Given the description of an element on the screen output the (x, y) to click on. 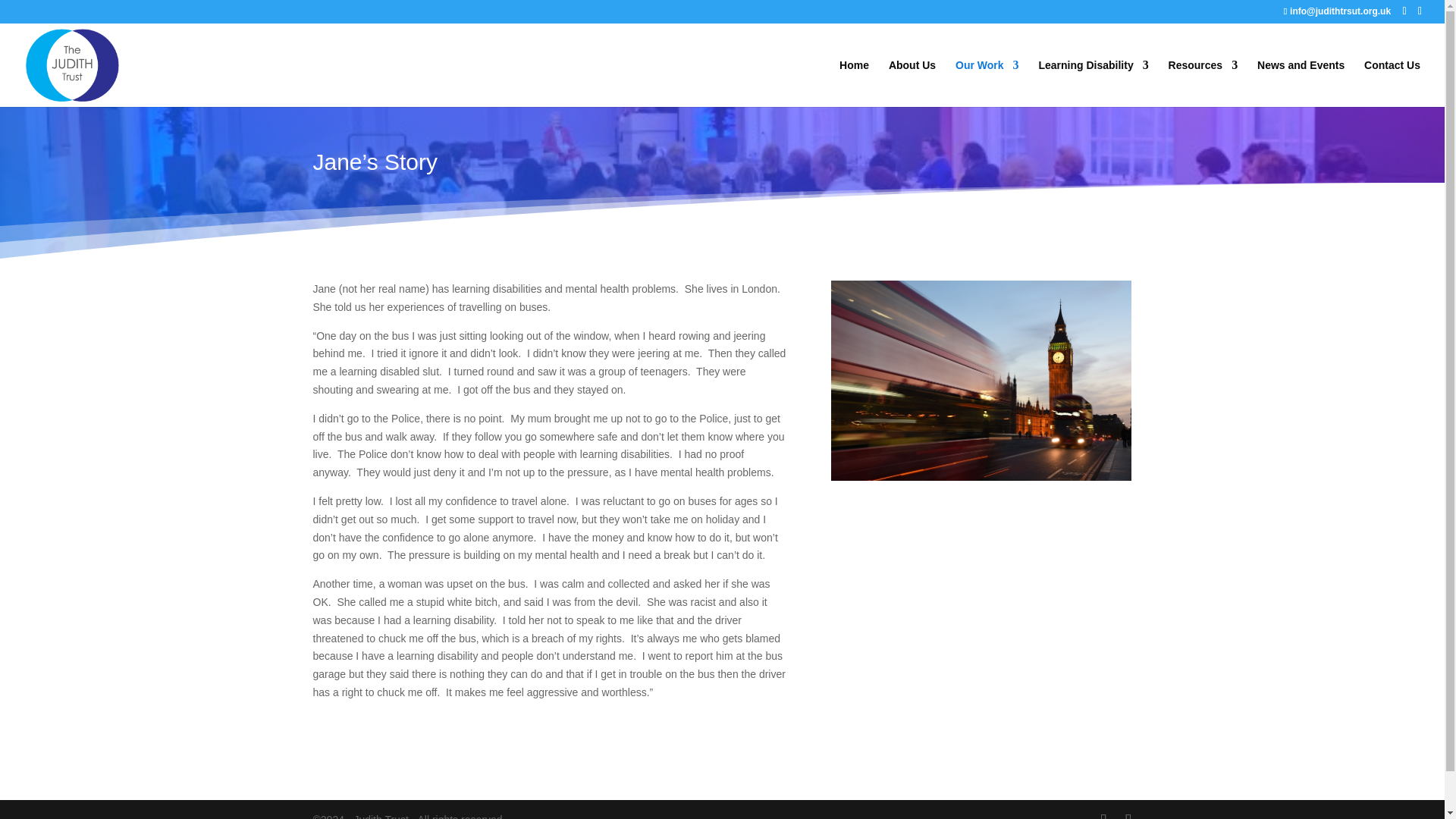
Resources (1204, 83)
About Us (912, 83)
News and Events (1300, 83)
Learning Disability (1093, 83)
Our Work (987, 83)
Contact Us (1392, 83)
